Given the description of an element on the screen output the (x, y) to click on. 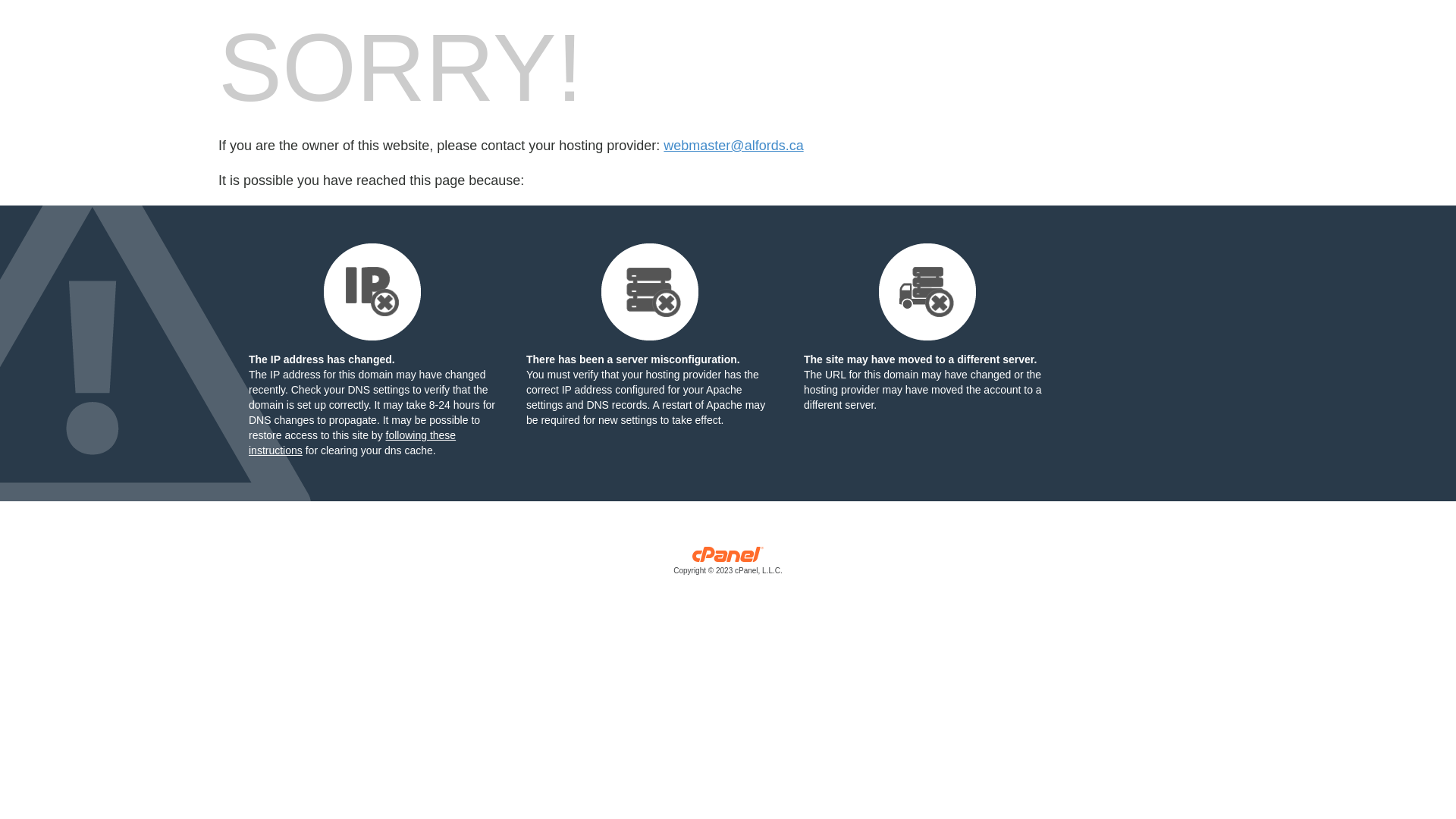
webmaster@alfords.ca Element type: text (733, 145)
following these instructions Element type: text (351, 442)
